Given the description of an element on the screen output the (x, y) to click on. 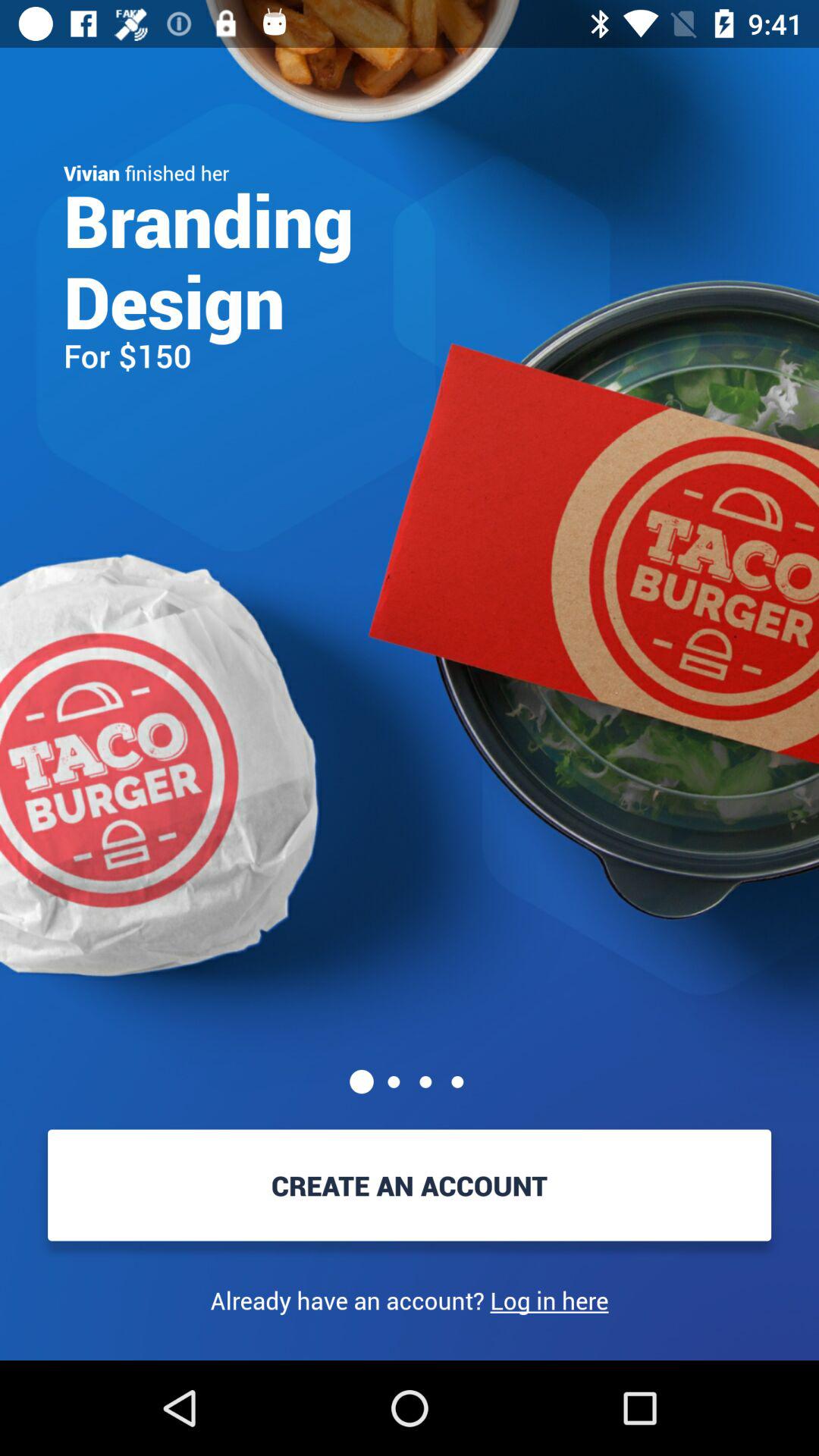
swipe until the already have an item (409, 1300)
